Given the description of an element on the screen output the (x, y) to click on. 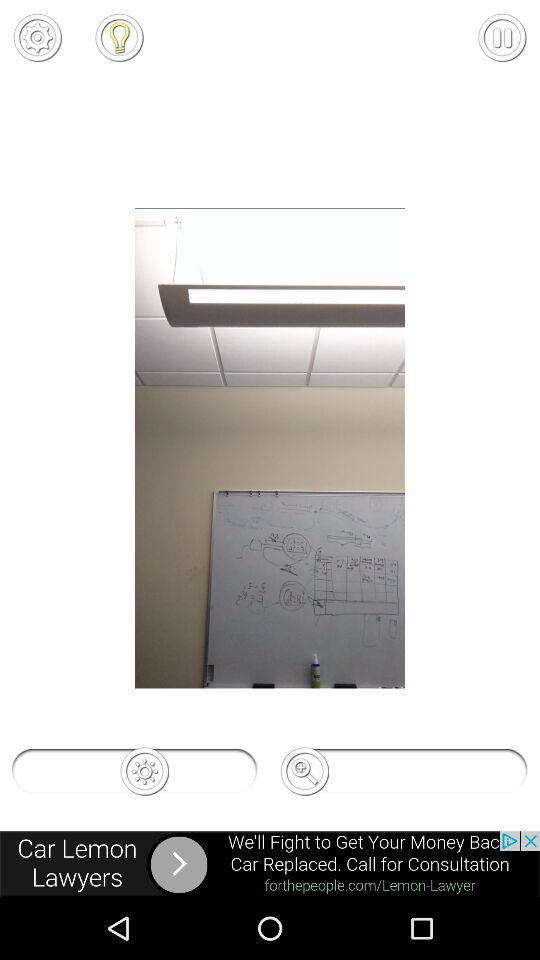
go to pause pattern (502, 37)
